Given the description of an element on the screen output the (x, y) to click on. 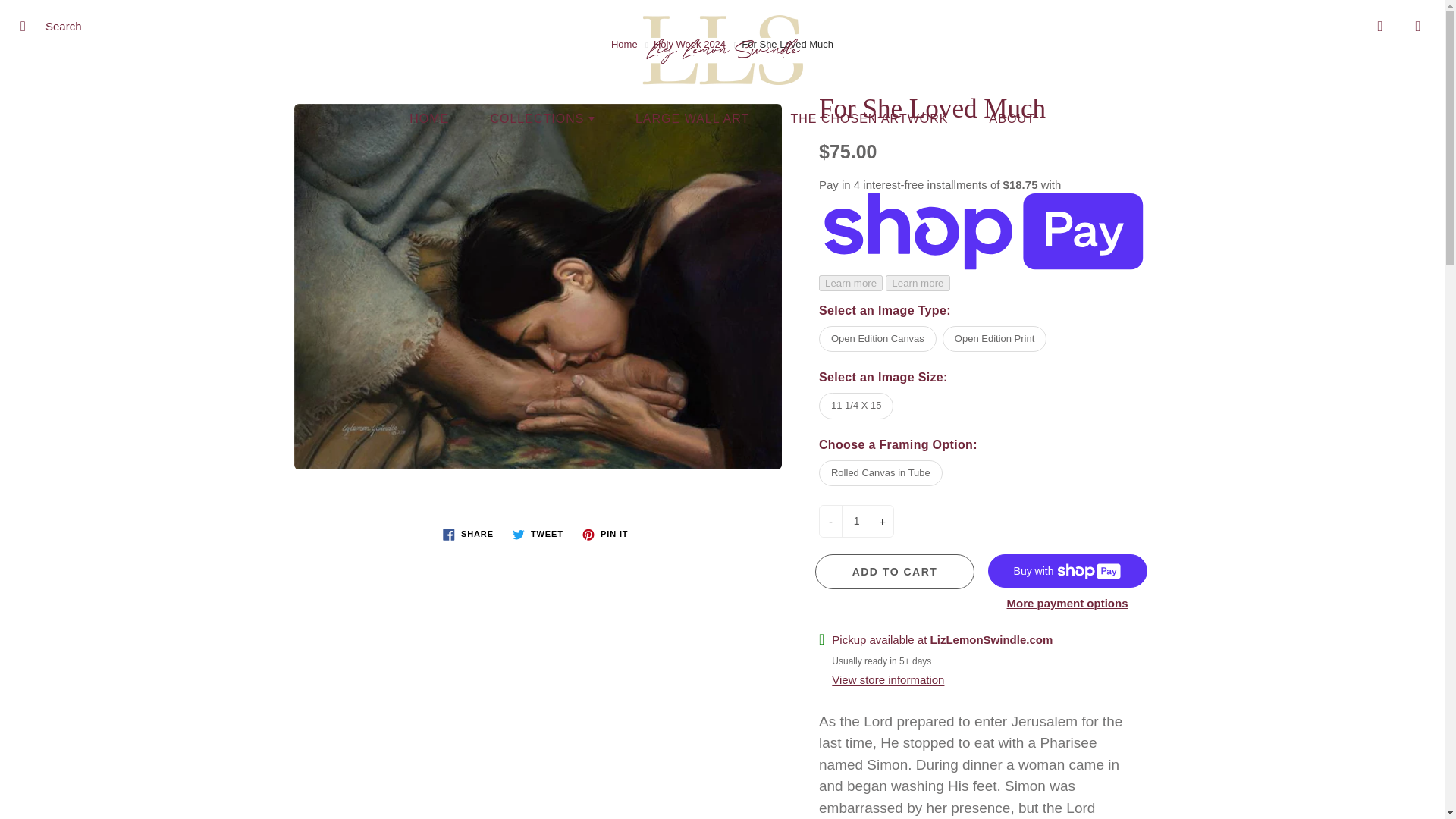
LARGE WALL ART (691, 118)
Share on Facebook (467, 534)
ABOUT (1012, 118)
Pin on Pinterest (604, 534)
Home (624, 43)
1 (855, 521)
THE CHOSEN ARTWORK (868, 118)
You have 0 items in your cart (1417, 26)
Search (28, 26)
HOME (428, 118)
My account (1379, 26)
COLLECTIONS (541, 118)
Tweet on Twitter (537, 534)
